Given the description of an element on the screen output the (x, y) to click on. 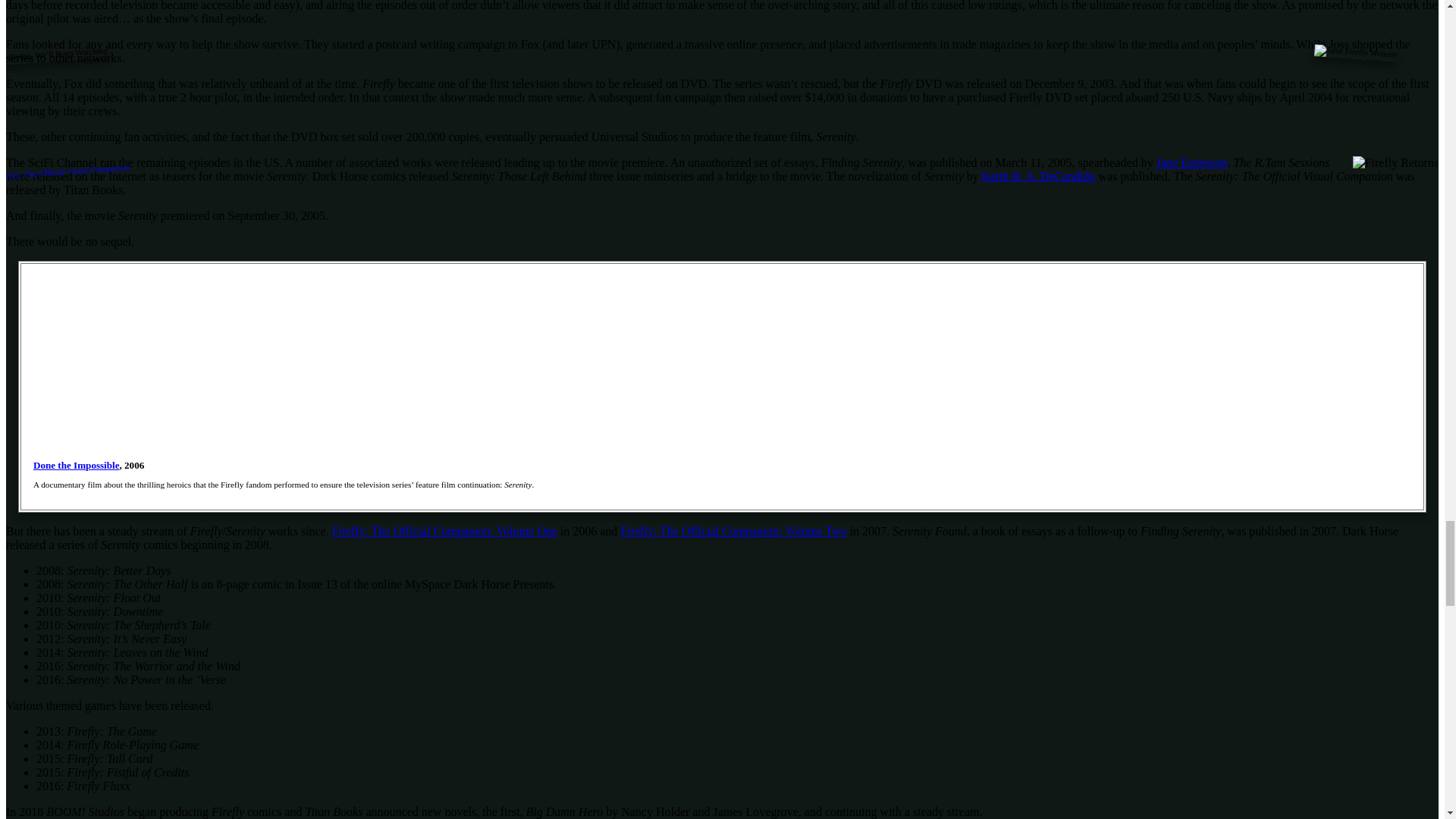
Firefly: The Official Companion: Volume Two (732, 530)
Keith R. A. DeCandido (1038, 175)
Jane Espenson (1191, 162)
Done the Impossible (76, 464)
Firefly: The Official Companion: Volume One (444, 530)
